Given the description of an element on the screen output the (x, y) to click on. 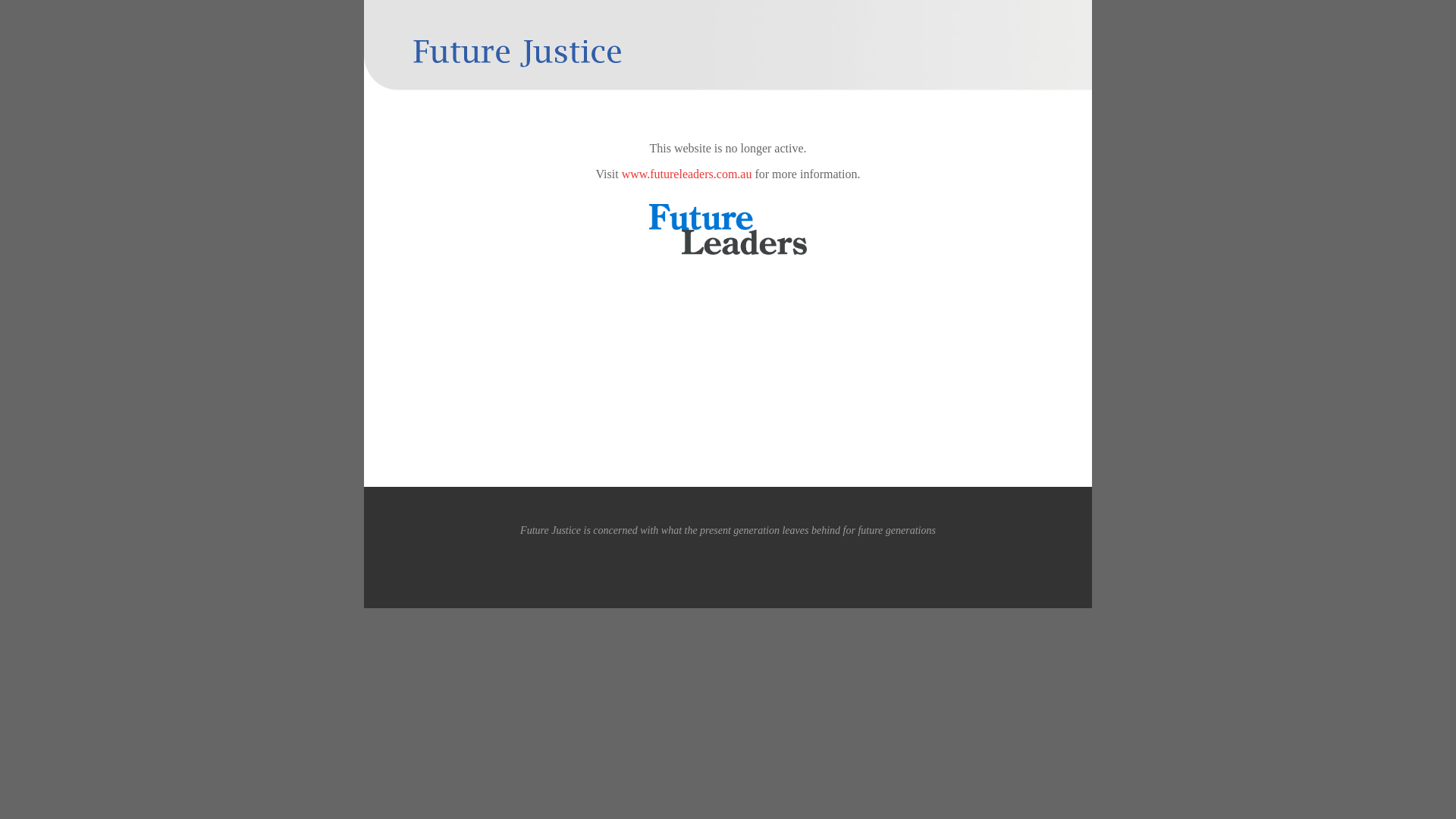
www.futureleaders.com.au Element type: text (686, 173)
